Given the description of an element on the screen output the (x, y) to click on. 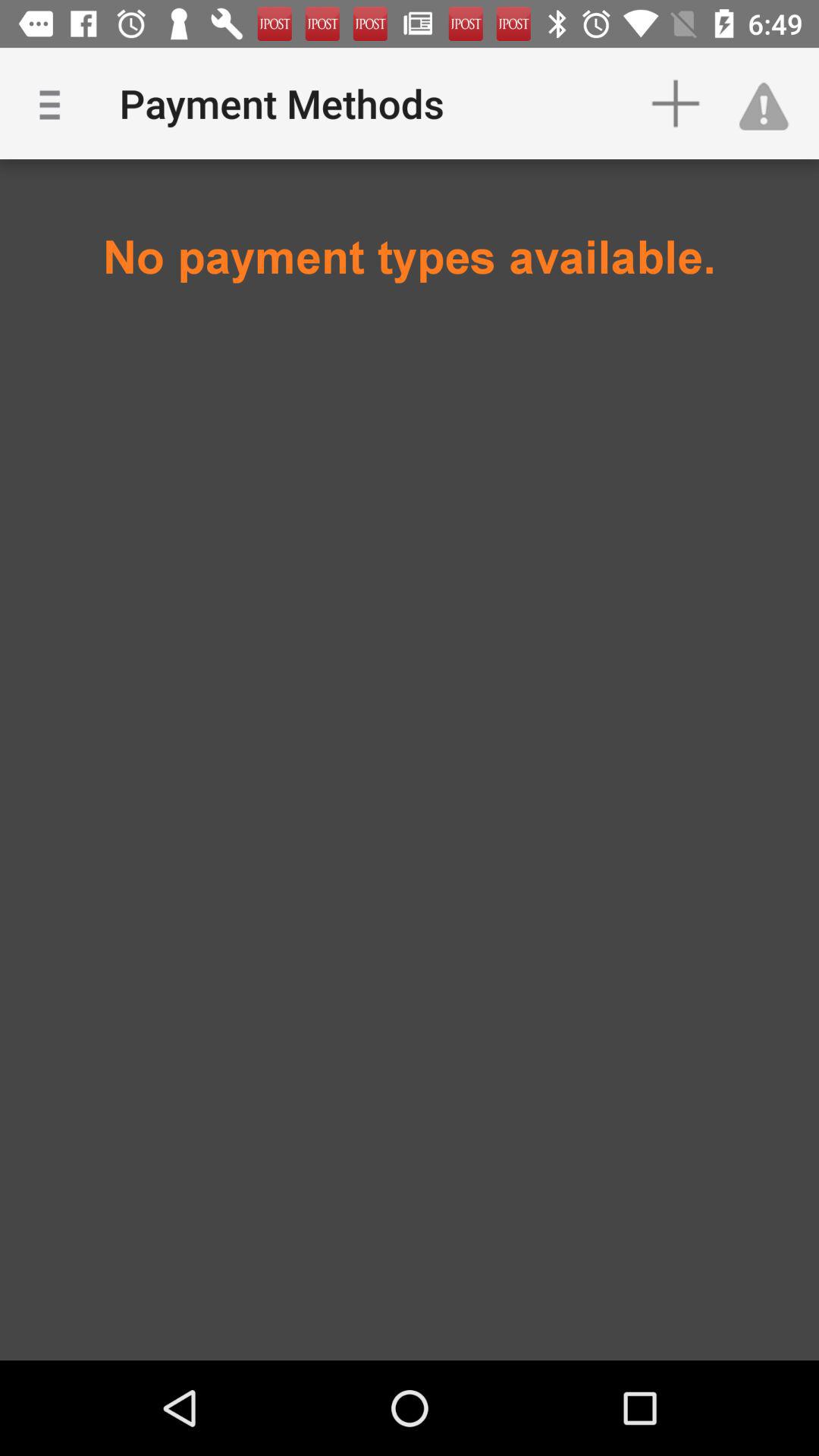
click the item next to the payment methods (675, 103)
